Given the description of an element on the screen output the (x, y) to click on. 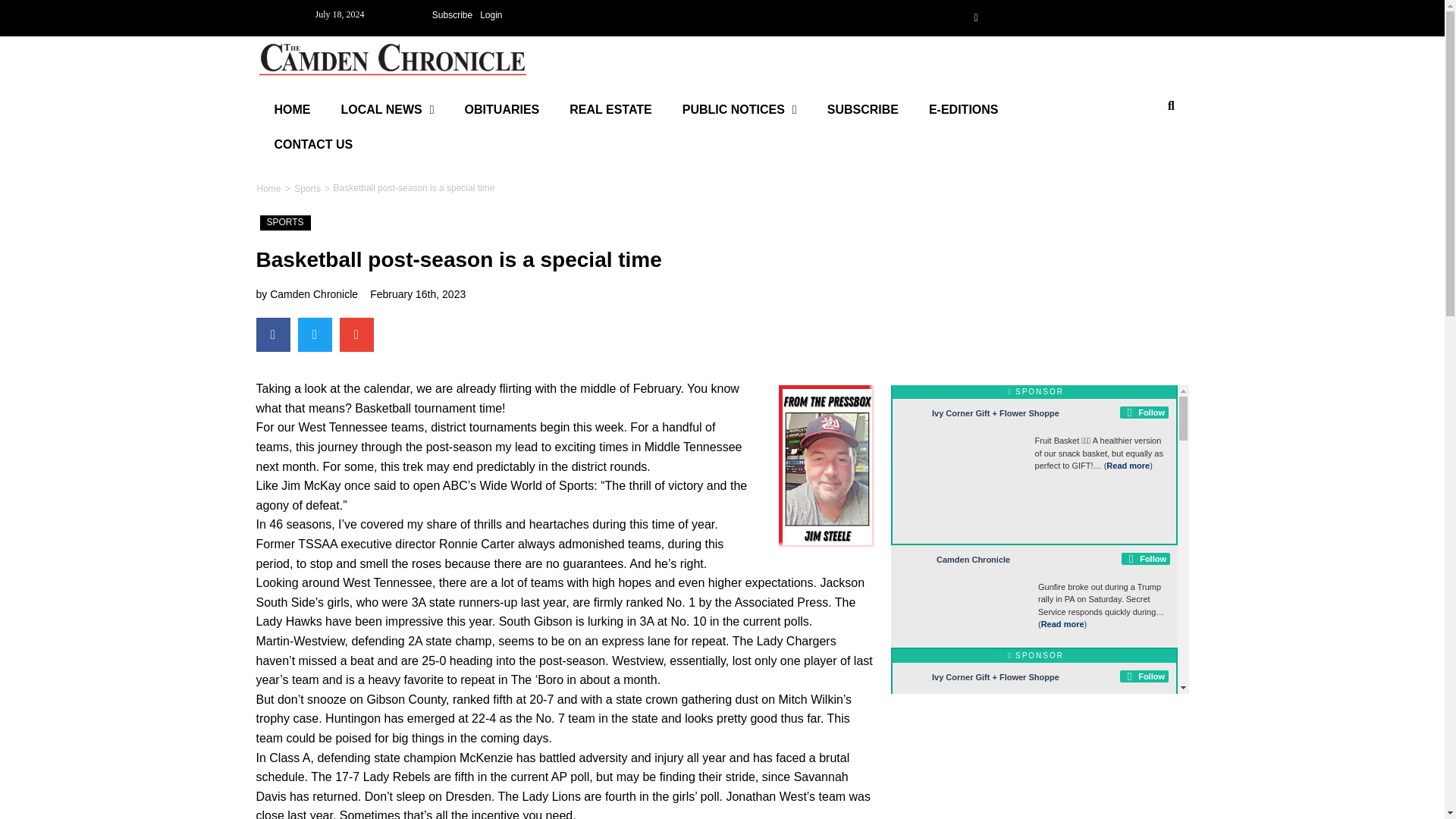
LOCAL NEWS (387, 109)
Home (269, 188)
REAL ESTATE (610, 109)
Home (269, 188)
Sports (307, 188)
Login (490, 14)
Sports (307, 188)
PUBLIC NOTICES (739, 109)
Subscribe (452, 14)
SPORTS (285, 222)
CONTACT US (313, 144)
SUBSCRIBE (863, 109)
HOME (292, 109)
E-EDITIONS (963, 109)
Basketball post-season is a special time (414, 188)
